Given the description of an element on the screen output the (x, y) to click on. 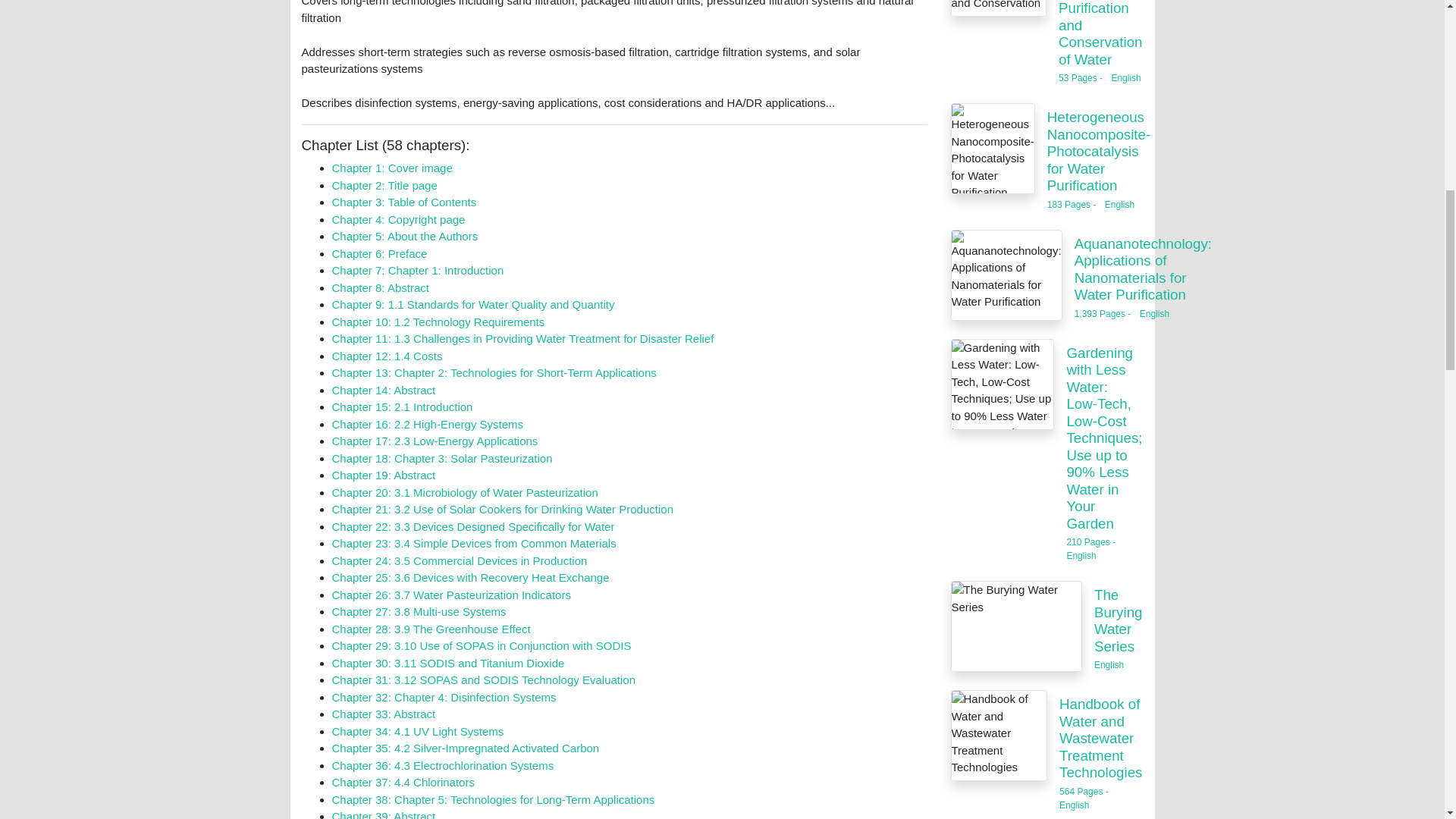
Chapter 1: Cover image (391, 167)
Chapter 7: Chapter 1: Introduction (417, 269)
The Burying Water Series (1015, 625)
Chapter 12: 1.4 Costs (386, 355)
Chapter 5: About the Authors (405, 236)
Chapter 4: Copyright page (398, 219)
Chapter 2: Title page (384, 185)
Chapter 10: 1.2 Technology Requirements (437, 321)
Chapter 8: Abstract (380, 287)
Chapter 9: 1.1 Standards for Water Quality and Quantity (472, 304)
Handbook of Water and Wastewater Treatment Technologies (999, 735)
